Given the description of an element on the screen output the (x, y) to click on. 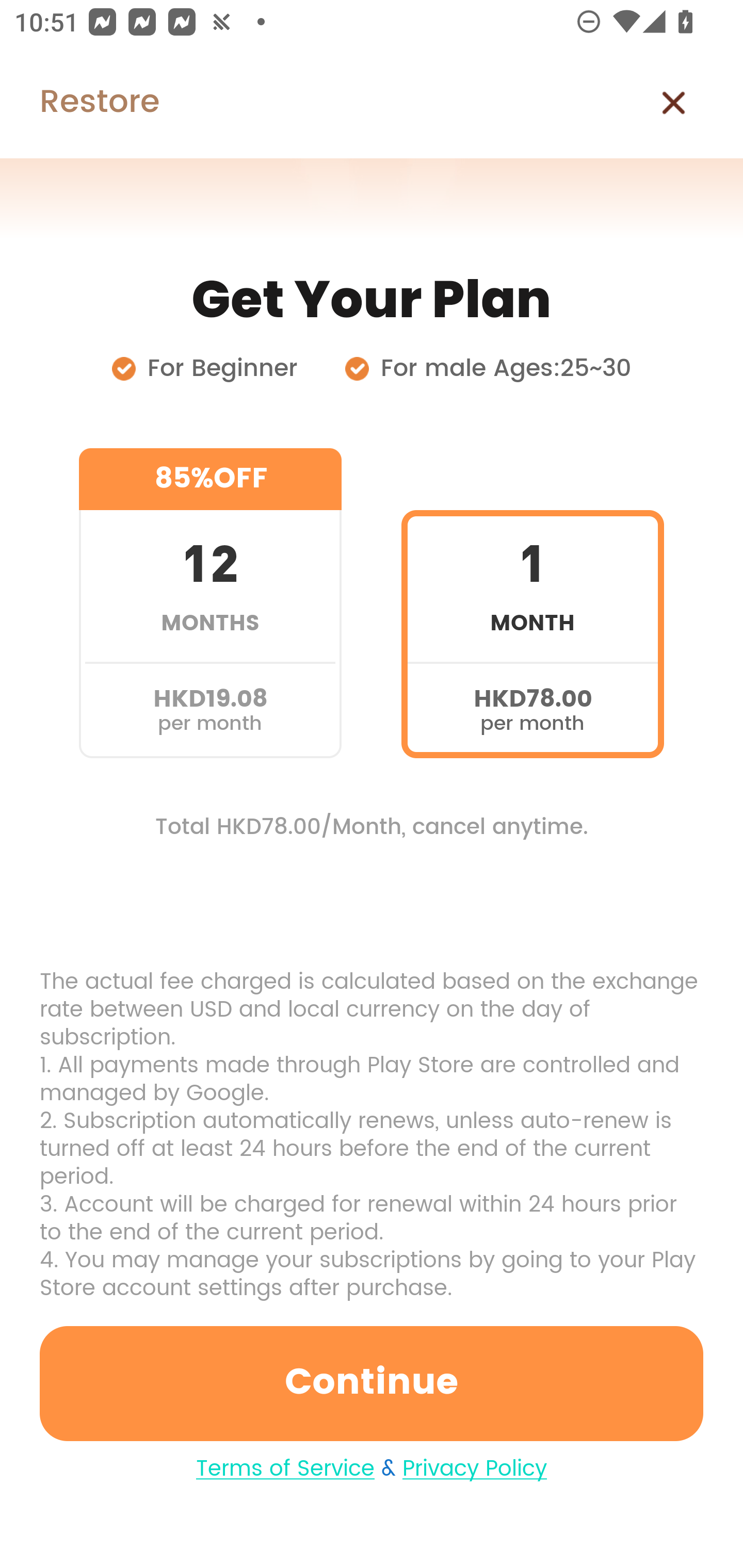
Restore (79, 102)
85%OFF 12 MONTHS per month HKD19.08 (209, 603)
1 MONTH per month HKD78.00 (532, 603)
Continue (371, 1383)
